Given the description of an element on the screen output the (x, y) to click on. 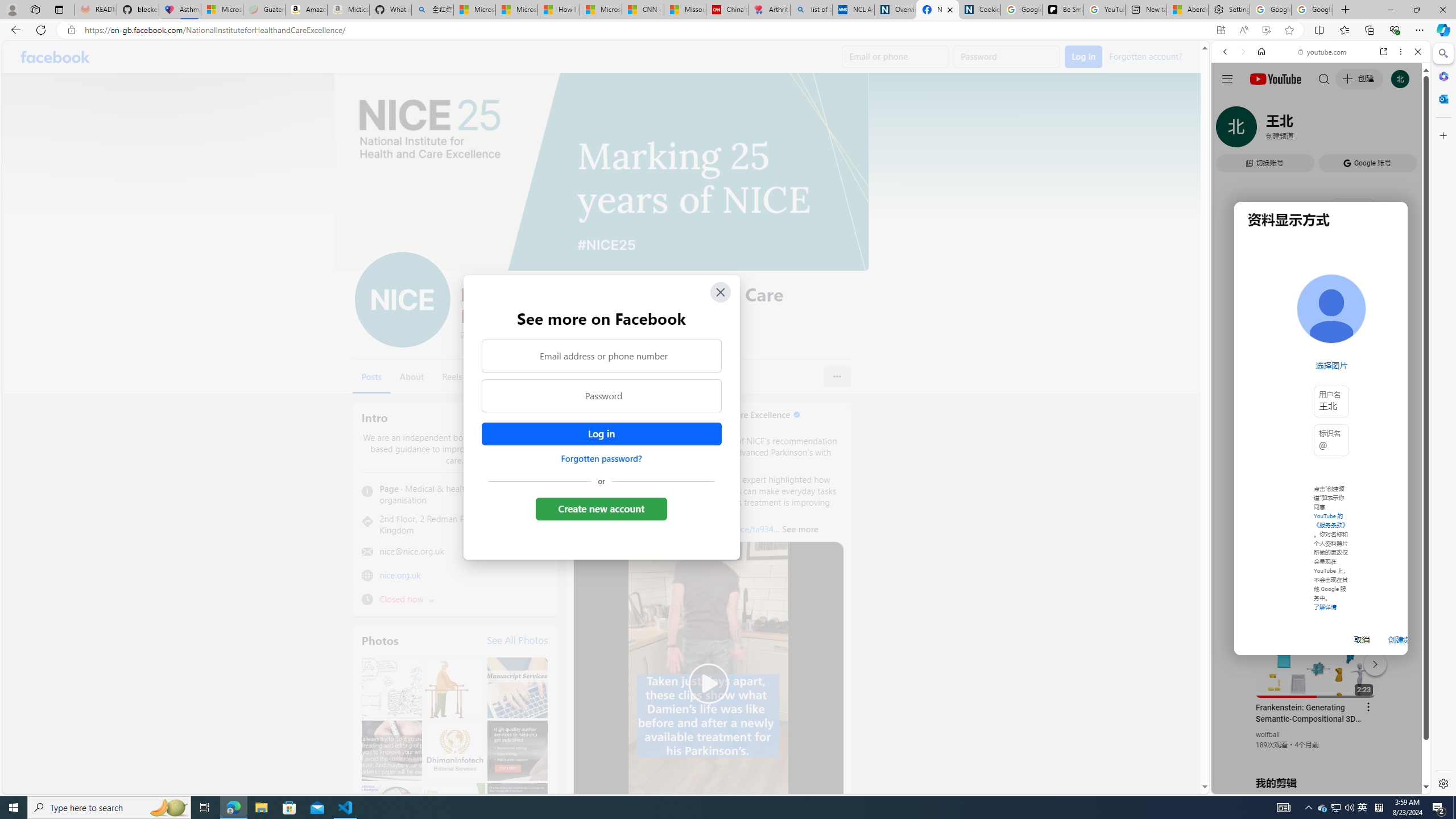
App available. Install Facebook (1220, 29)
YouTube - YouTube (1315, 560)
Search videos from youtube.com (1299, 373)
Create new account (601, 508)
